Given the description of an element on the screen output the (x, y) to click on. 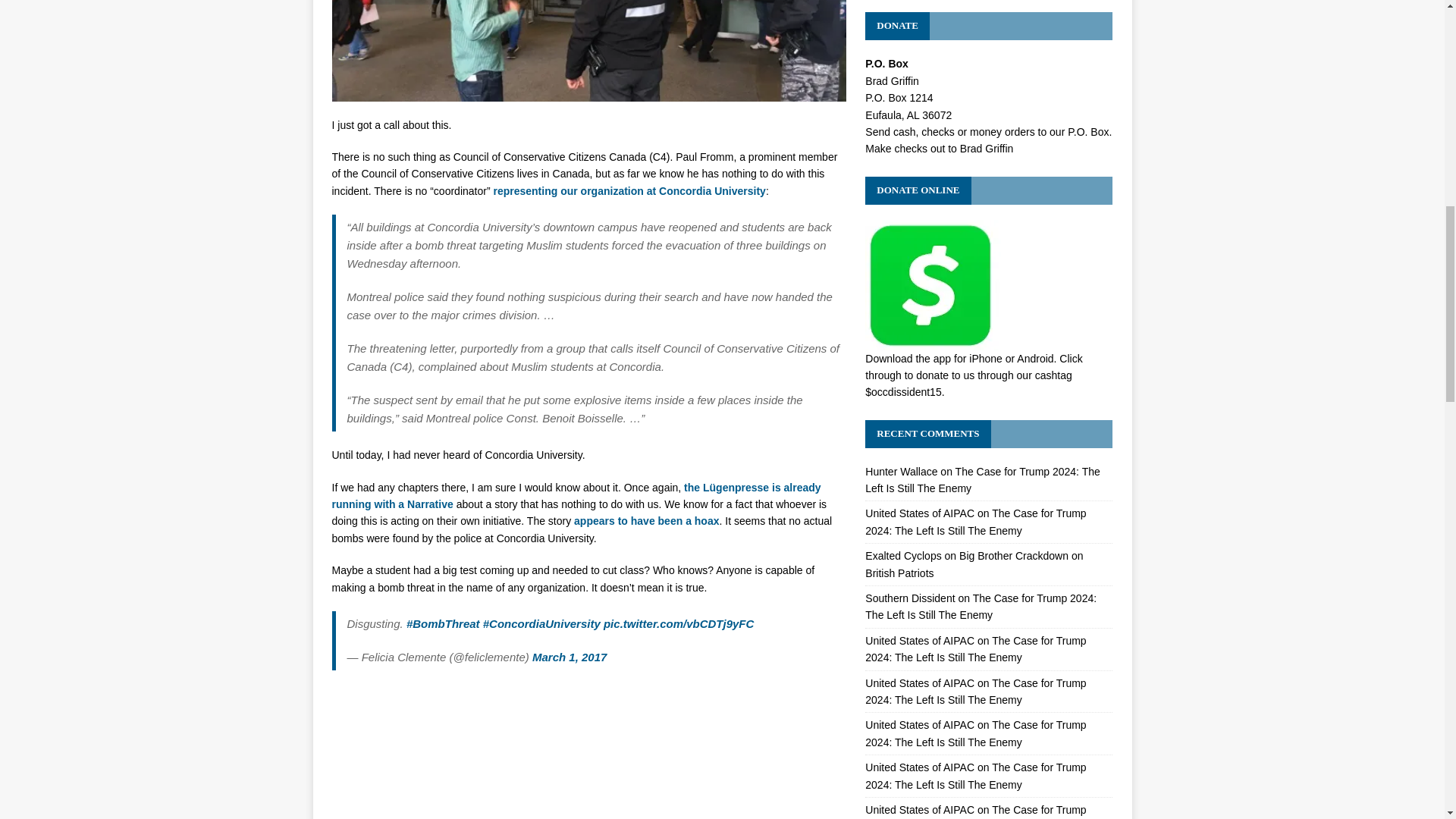
March 1, 2017 (569, 656)
appears to have been a hoax (646, 521)
concordia-university-s-ev-building (588, 50)
representing our organization at Concordia University (629, 191)
